Given the description of an element on the screen output the (x, y) to click on. 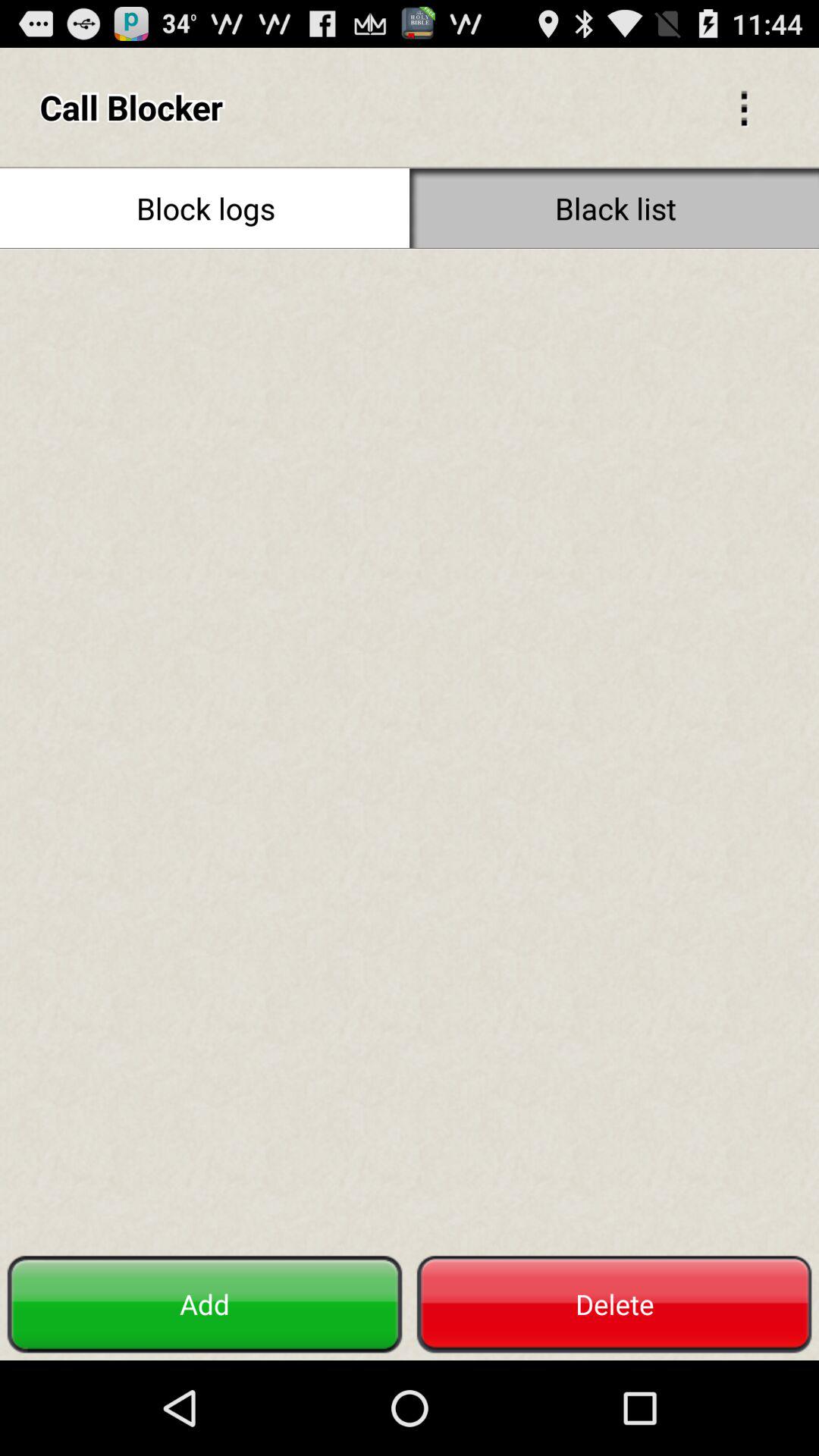
turn on the icon next to the call blocker (744, 107)
